Given the description of an element on the screen output the (x, y) to click on. 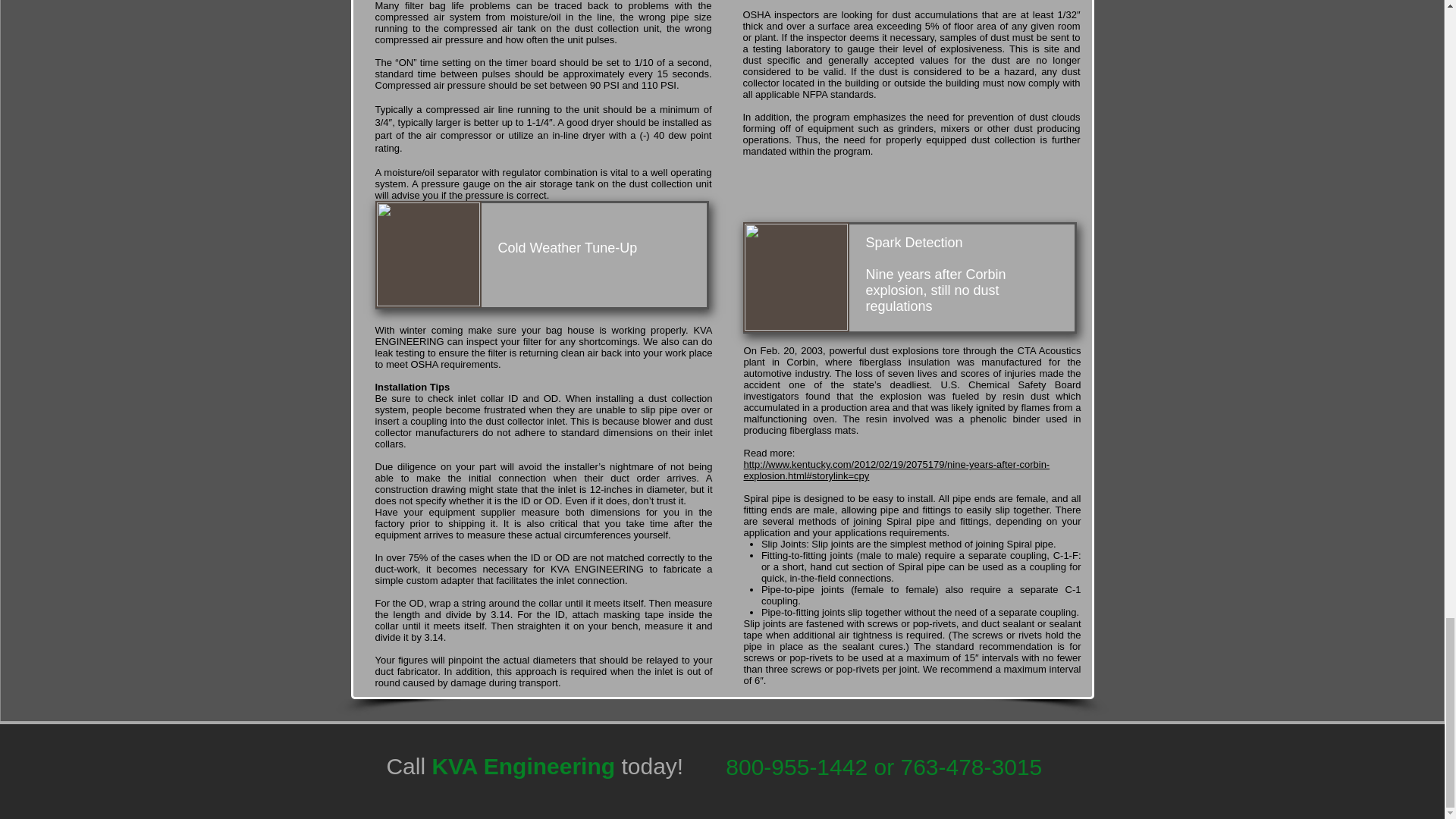
spark1.jpg (795, 276)
compressedair1.jpg (427, 253)
